Given the description of an element on the screen output the (x, y) to click on. 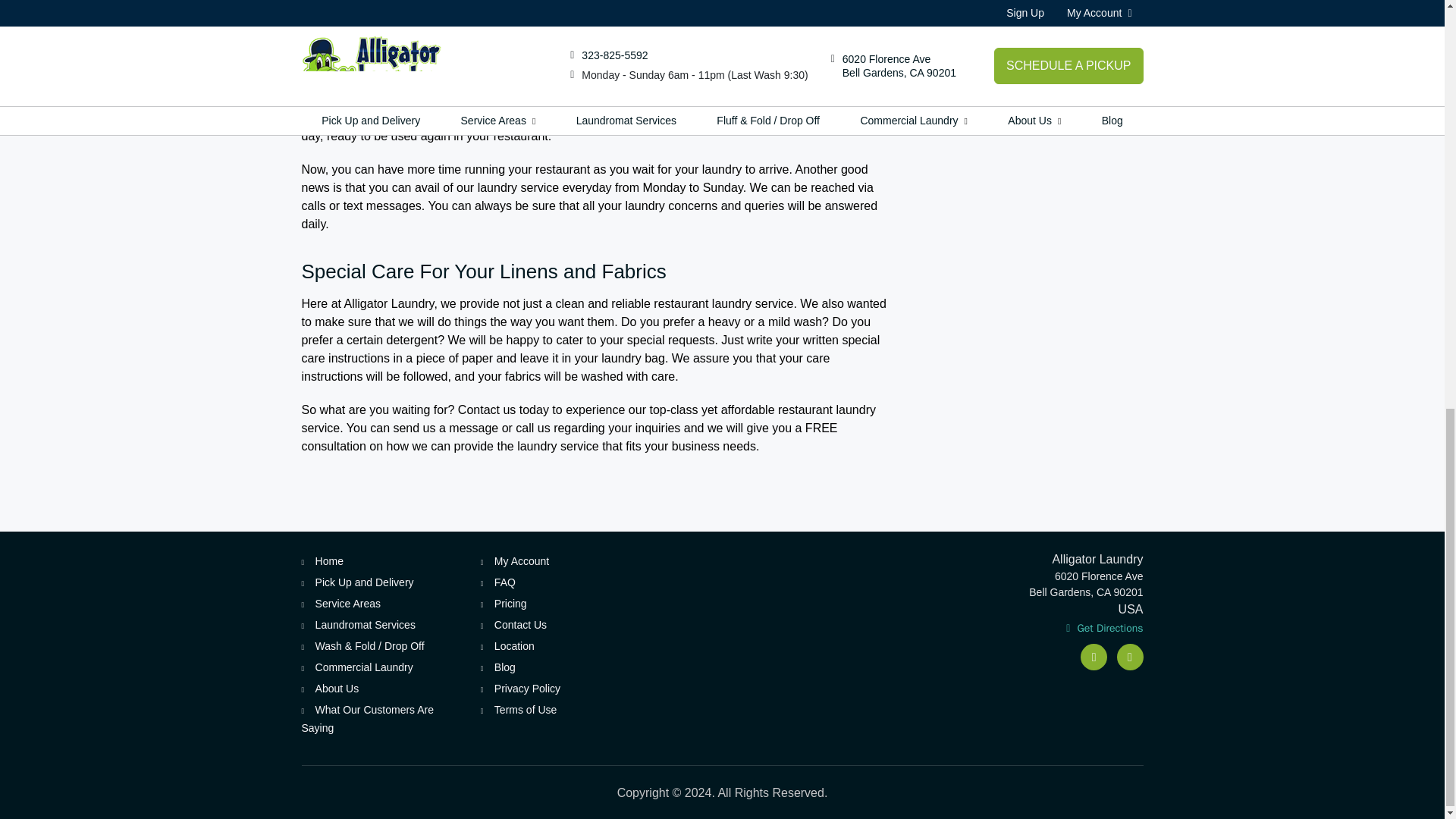
GET YOUR CUSTOM QUOTE! (1042, 70)
